Given the description of an element on the screen output the (x, y) to click on. 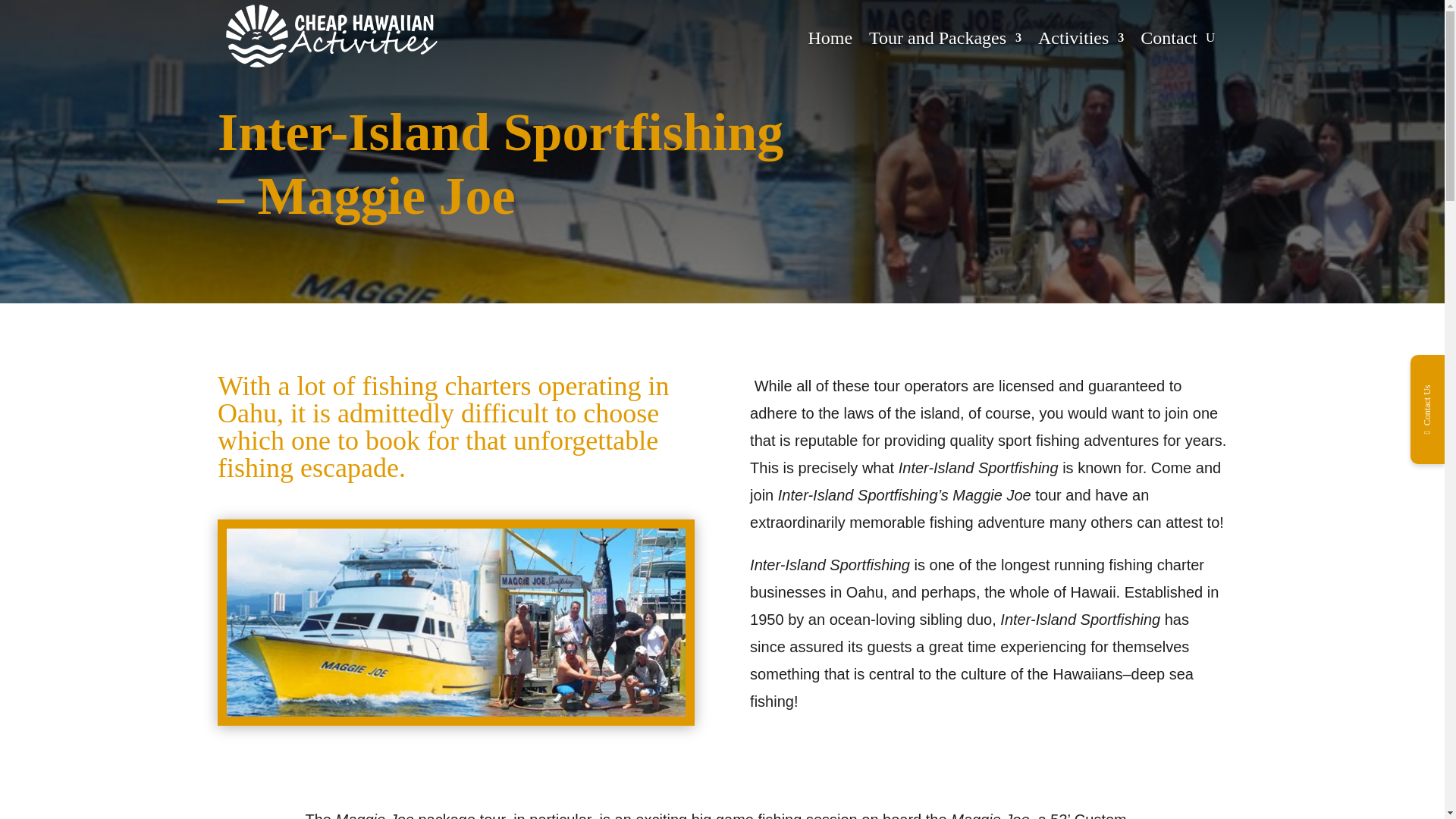
Tour and Packages (945, 38)
Activities (1081, 38)
Maggie-Joe-Inter-Island-Sport-Fishing (456, 710)
